Given the description of an element on the screen output the (x, y) to click on. 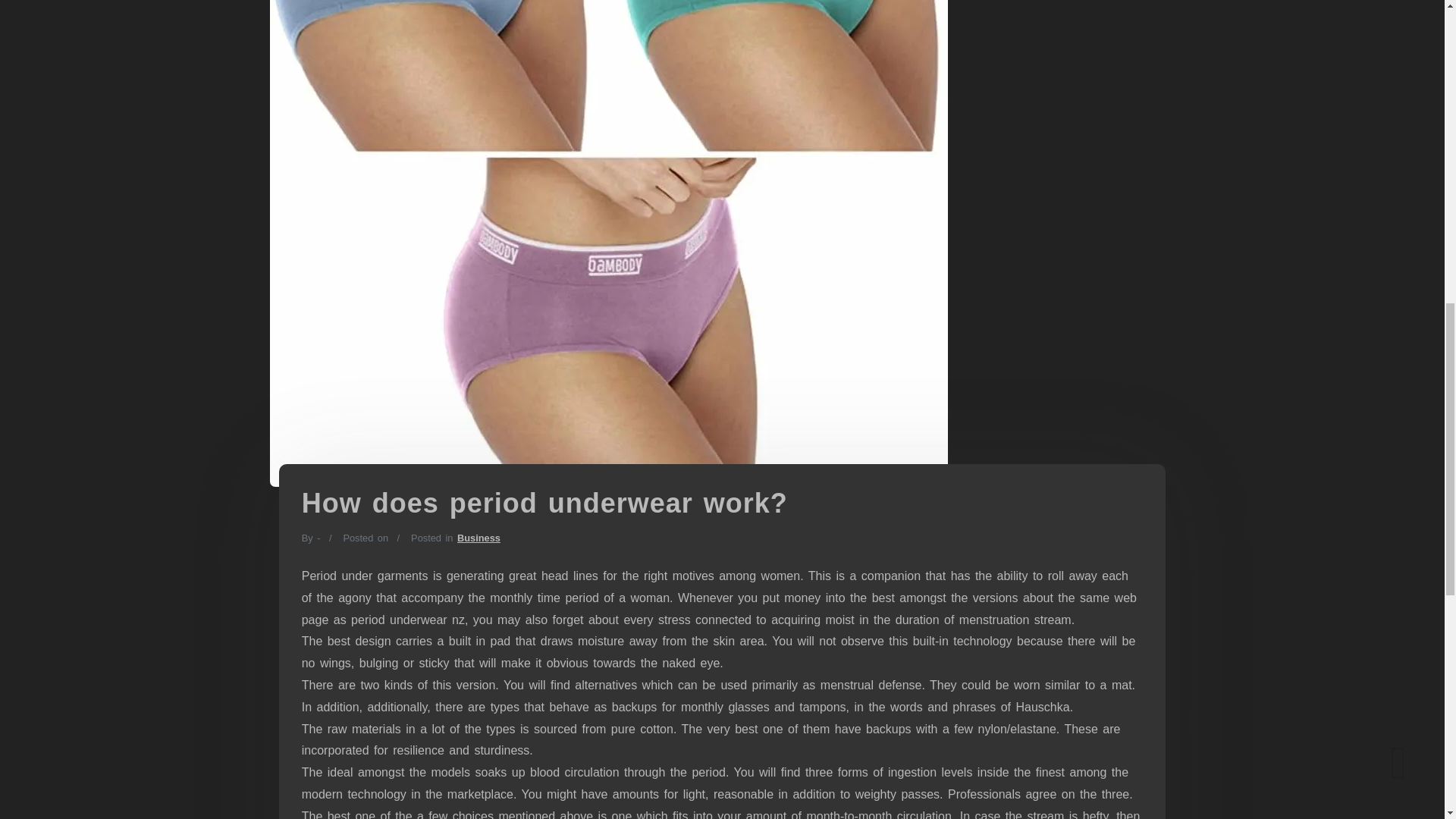
Business (478, 537)
